Given the description of an element on the screen output the (x, y) to click on. 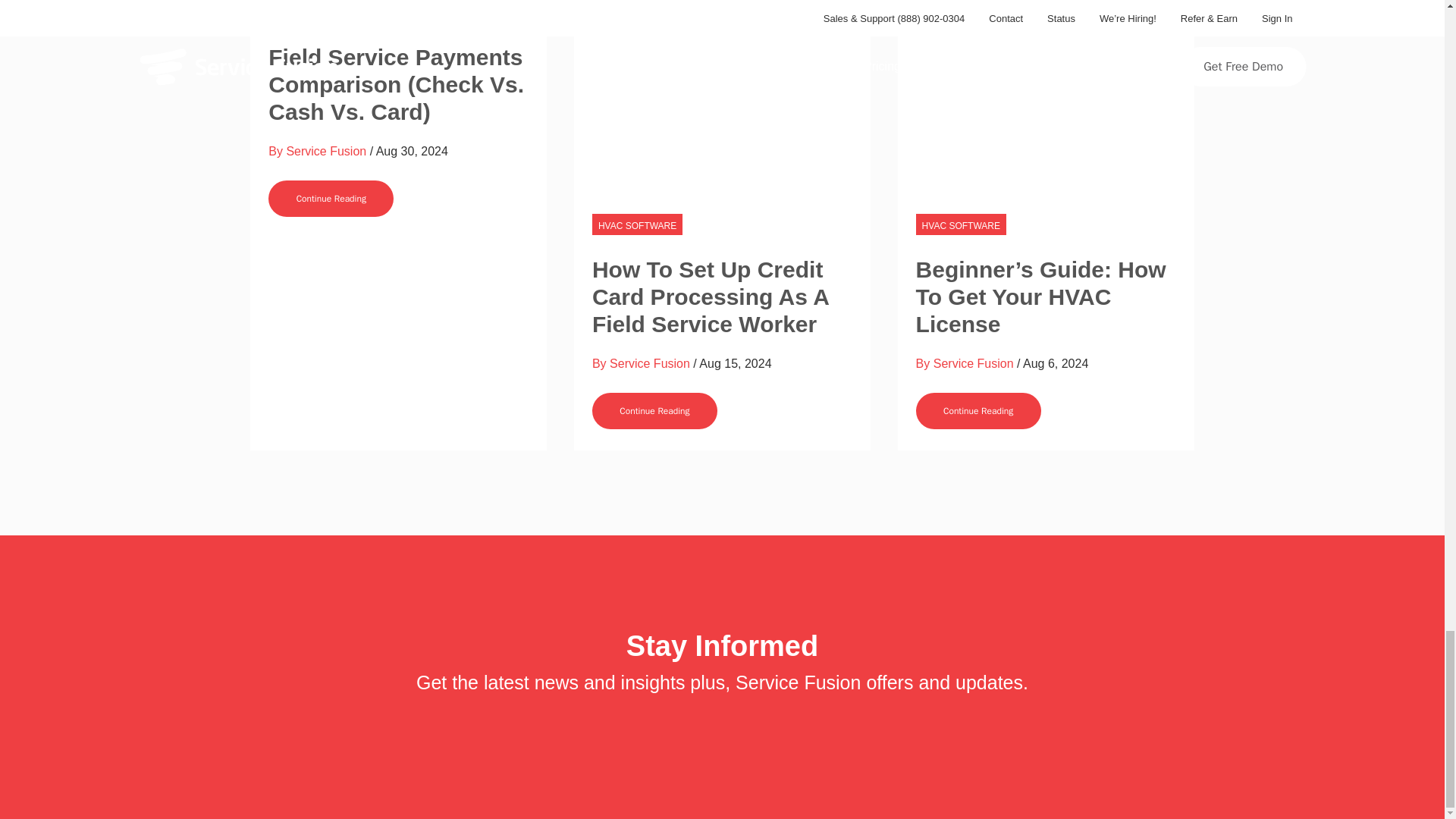
Payments (298, 11)
HVAC Software (960, 224)
HVAC Software (637, 224)
